Given the description of an element on the screen output the (x, y) to click on. 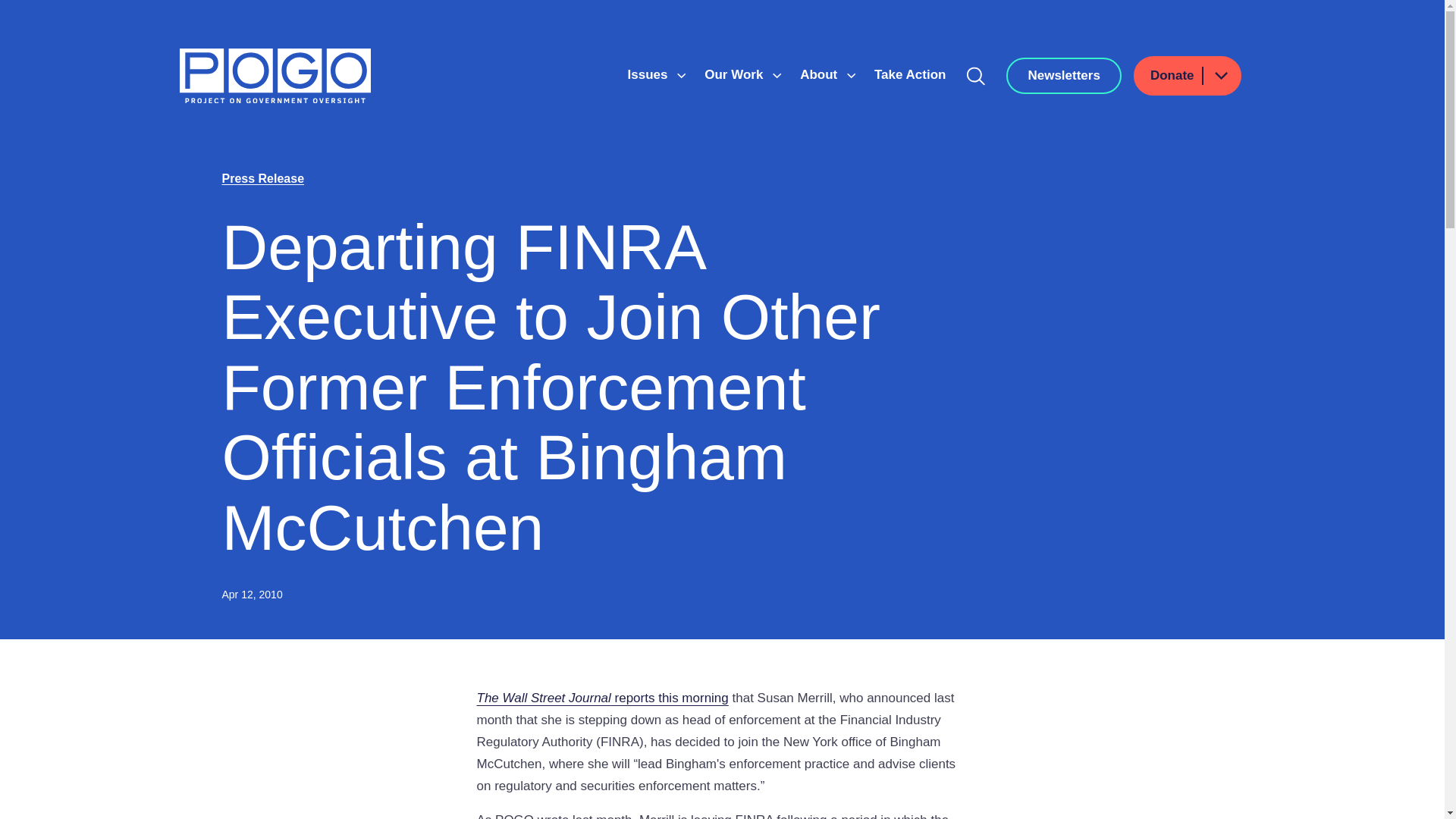
Donate (1187, 75)
Show submenu for Issues (681, 75)
About (820, 74)
Show submenu for Donate (1220, 75)
Our Work (735, 74)
Home (274, 75)
Issues (649, 74)
Show submenu for About (851, 75)
Newsletters (1063, 75)
Take Action (909, 74)
Show submenu for Our Work (777, 75)
Search (976, 75)
